Given the description of an element on the screen output the (x, y) to click on. 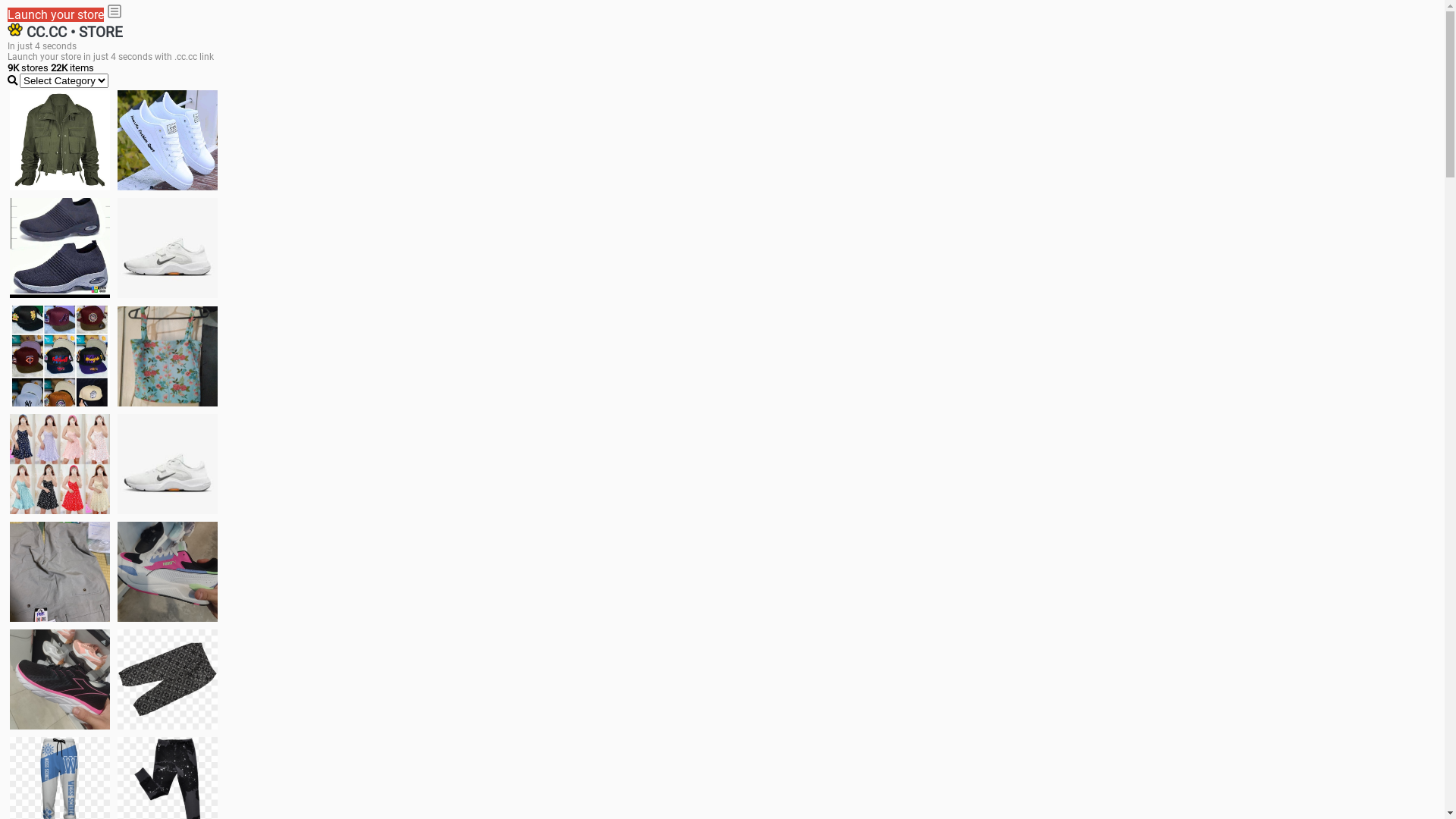
white shoes Element type: hover (167, 140)
Ukay cloth Element type: hover (167, 356)
Zapatillas pumas Element type: hover (167, 571)
Zapatillas Element type: hover (59, 679)
Shoes Element type: hover (167, 464)
jacket Element type: hover (59, 140)
Short pant Element type: hover (167, 679)
Things we need Element type: hover (59, 355)
Launch your store Element type: text (55, 14)
Shoes for boys Element type: hover (167, 247)
shoes for boys Element type: hover (59, 247)
Dress/square nect top Element type: hover (59, 464)
